Given the description of an element on the screen output the (x, y) to click on. 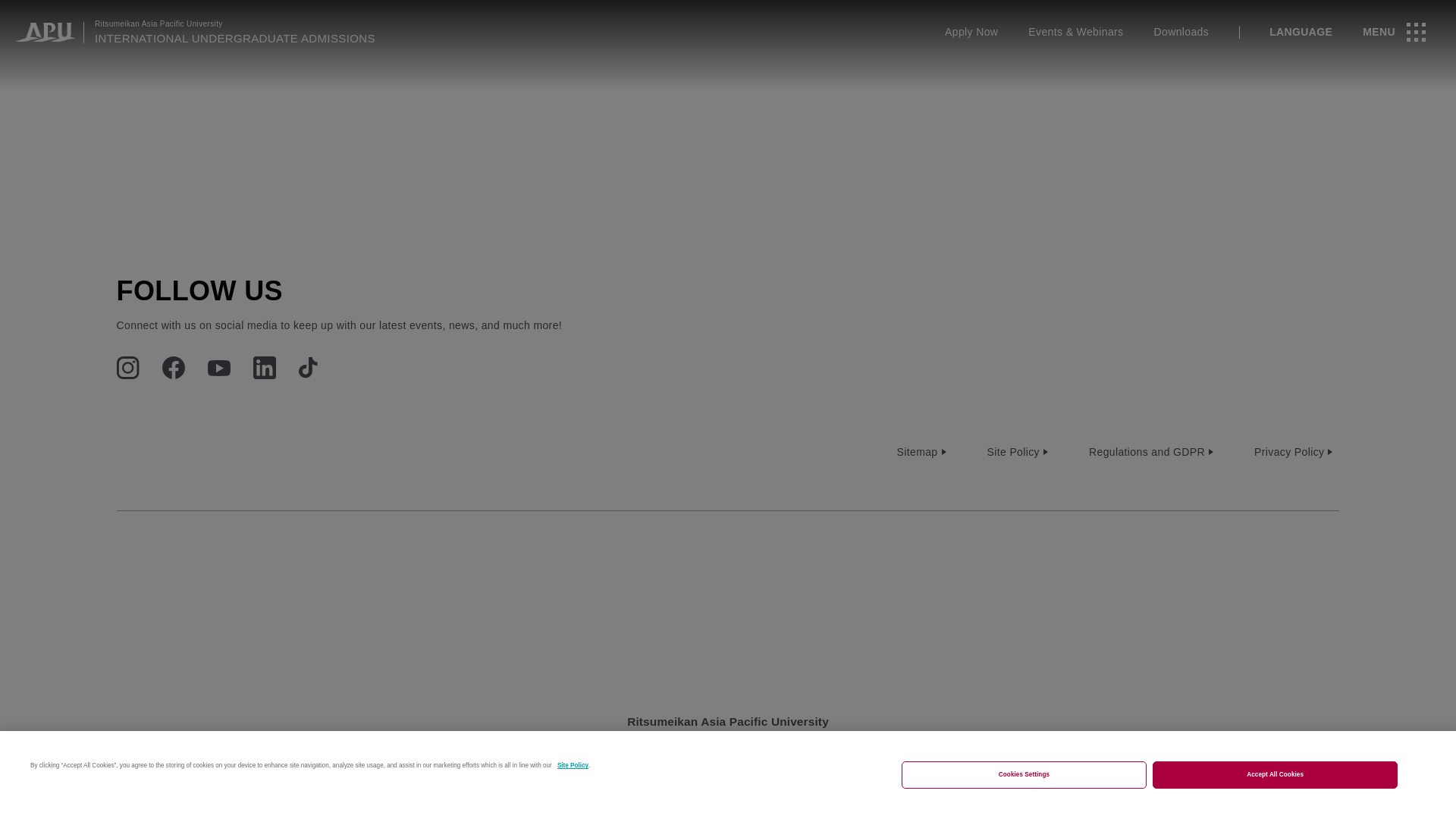
Regulations and GDPR (1152, 451)
Privacy Policy (1294, 451)
Sitemap (923, 451)
Site Policy (1018, 451)
